Given the description of an element on the screen output the (x, y) to click on. 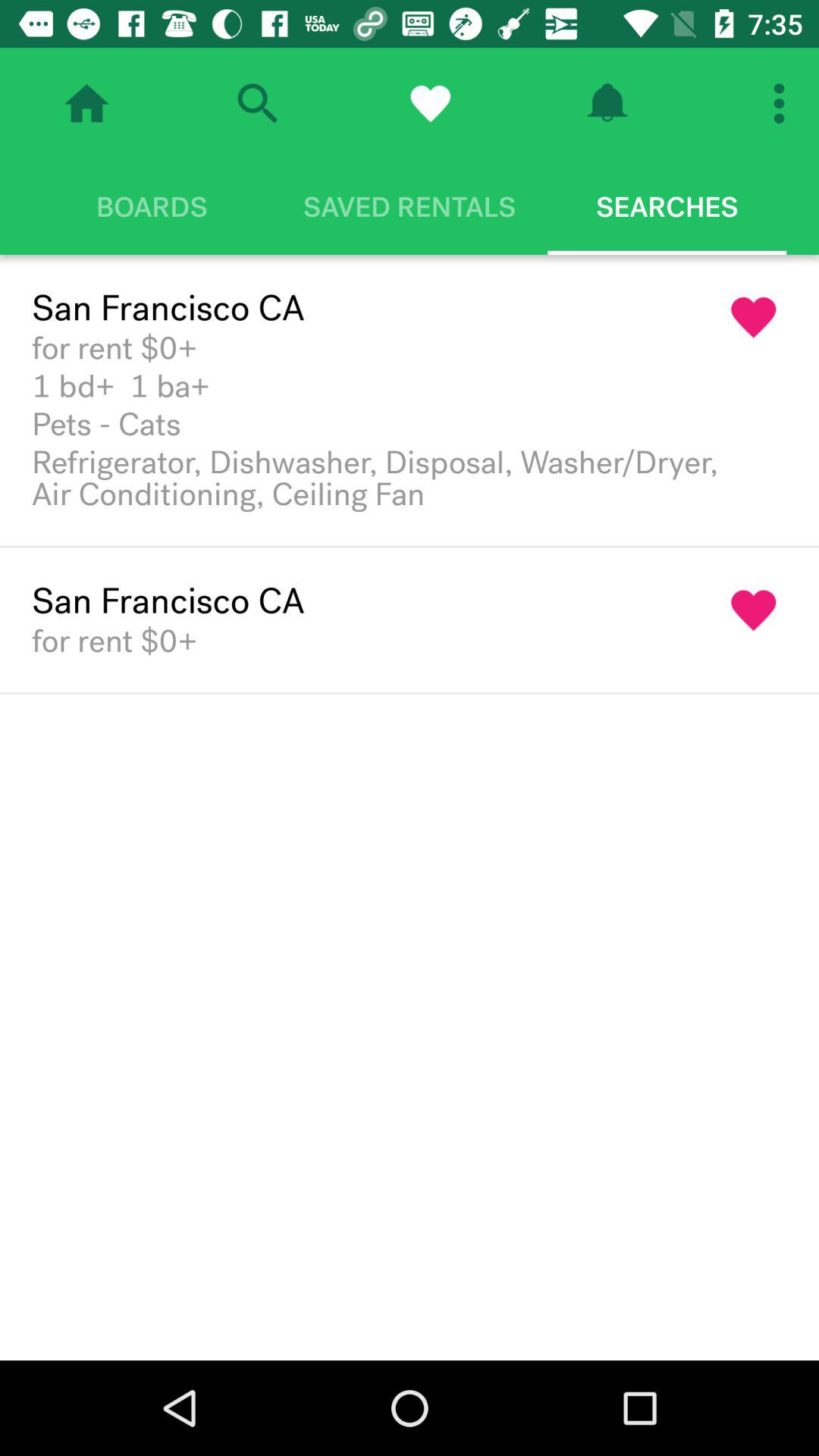
like option (429, 103)
